Given the description of an element on the screen output the (x, y) to click on. 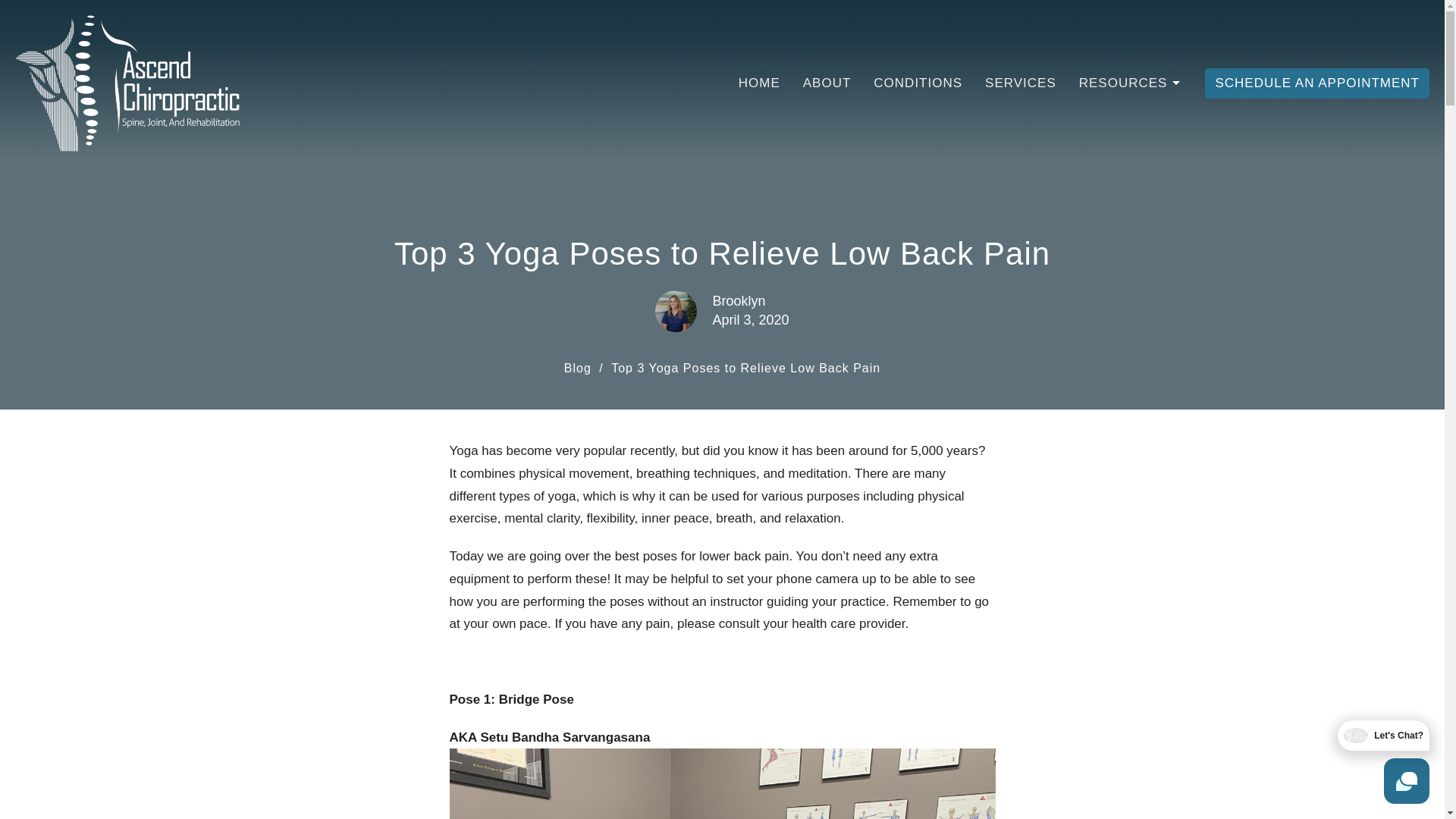
SCHEDULE AN APPOINTMENT (1317, 82)
ABOUT (827, 83)
CONDITIONS (917, 83)
RESOURCES (1130, 83)
Blog (577, 367)
HOME (759, 83)
SERVICES (1021, 83)
